Given the description of an element on the screen output the (x, y) to click on. 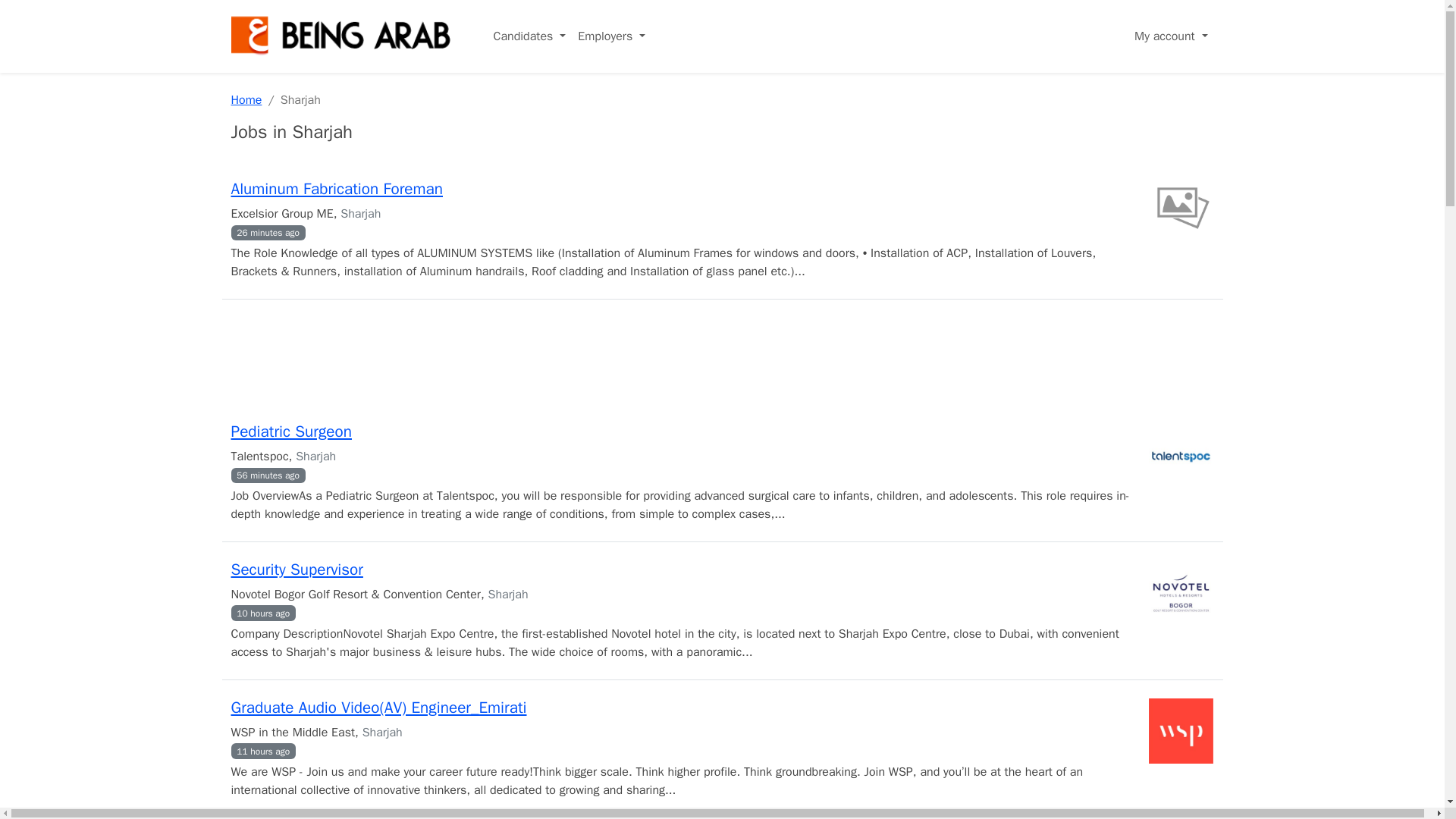
BeingArab (339, 35)
Candidates (529, 36)
Advertisement (721, 357)
Employers (611, 36)
Home (246, 99)
Security Supervisor (296, 569)
Pediatric Surgeon (290, 431)
My account (1170, 36)
Aluminum Fabrication Foreman (336, 189)
